Given the description of an element on the screen output the (x, y) to click on. 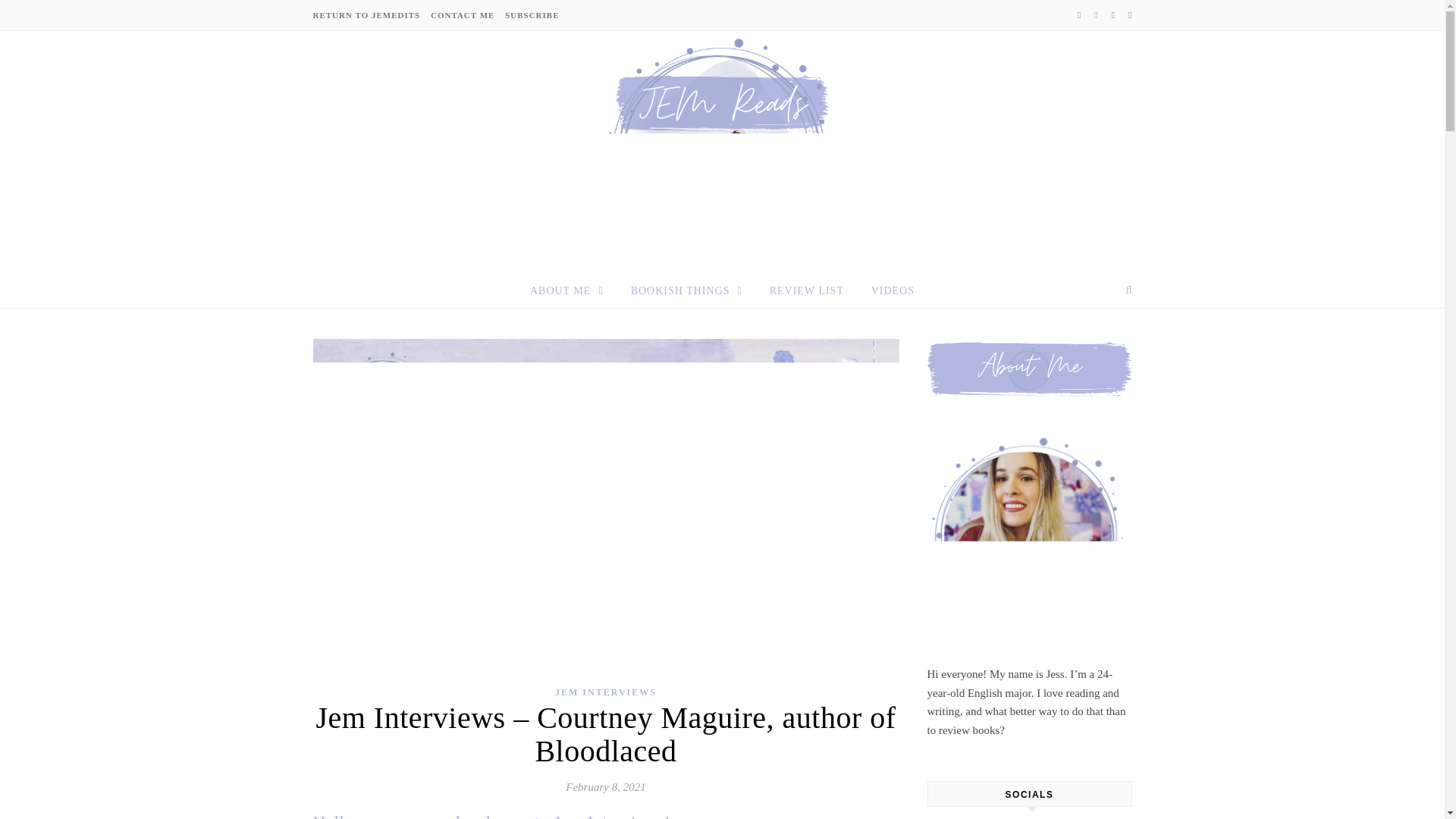
BOOKISH THINGS (686, 290)
SUBSCRIBE (529, 15)
RETURN TO JEMEDITS (368, 15)
Jem Reads (721, 148)
ABOUT ME (572, 290)
VIDEOS (886, 290)
JEM INTERVIEWS (605, 692)
REVIEW LIST (806, 290)
CONTACT ME (461, 15)
